Given the description of an element on the screen output the (x, y) to click on. 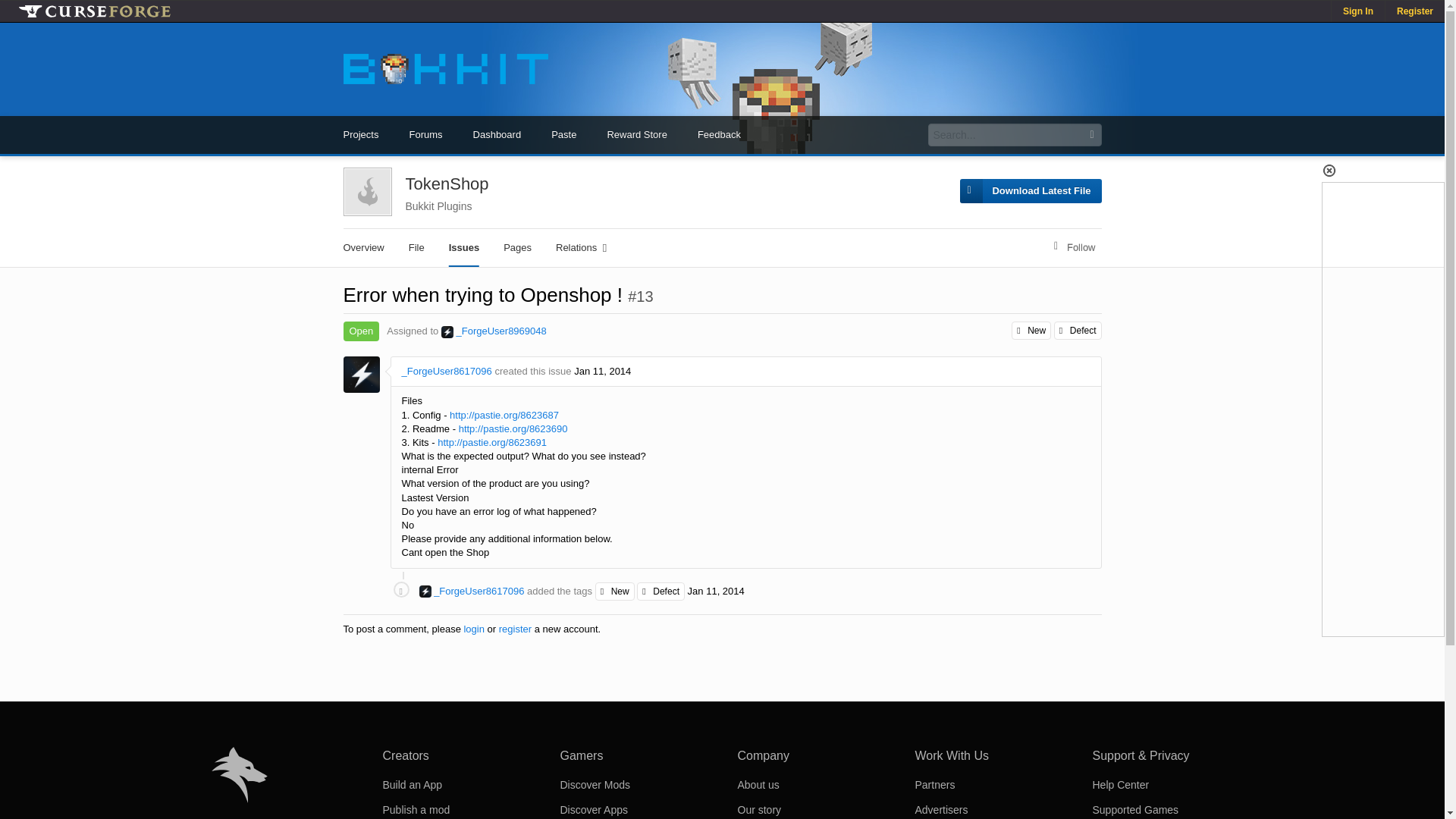
CurseForge (94, 11)
Sign In (1357, 11)
You must log in to follow a project. (1075, 247)
register (515, 628)
Pages (517, 247)
Overview (363, 247)
File (416, 247)
Feedback (718, 134)
login (473, 628)
Projects (360, 134)
Download Latest File (1029, 191)
Build an App (411, 784)
Relations (580, 247)
Forums (425, 134)
Issues (464, 247)
